Given the description of an element on the screen output the (x, y) to click on. 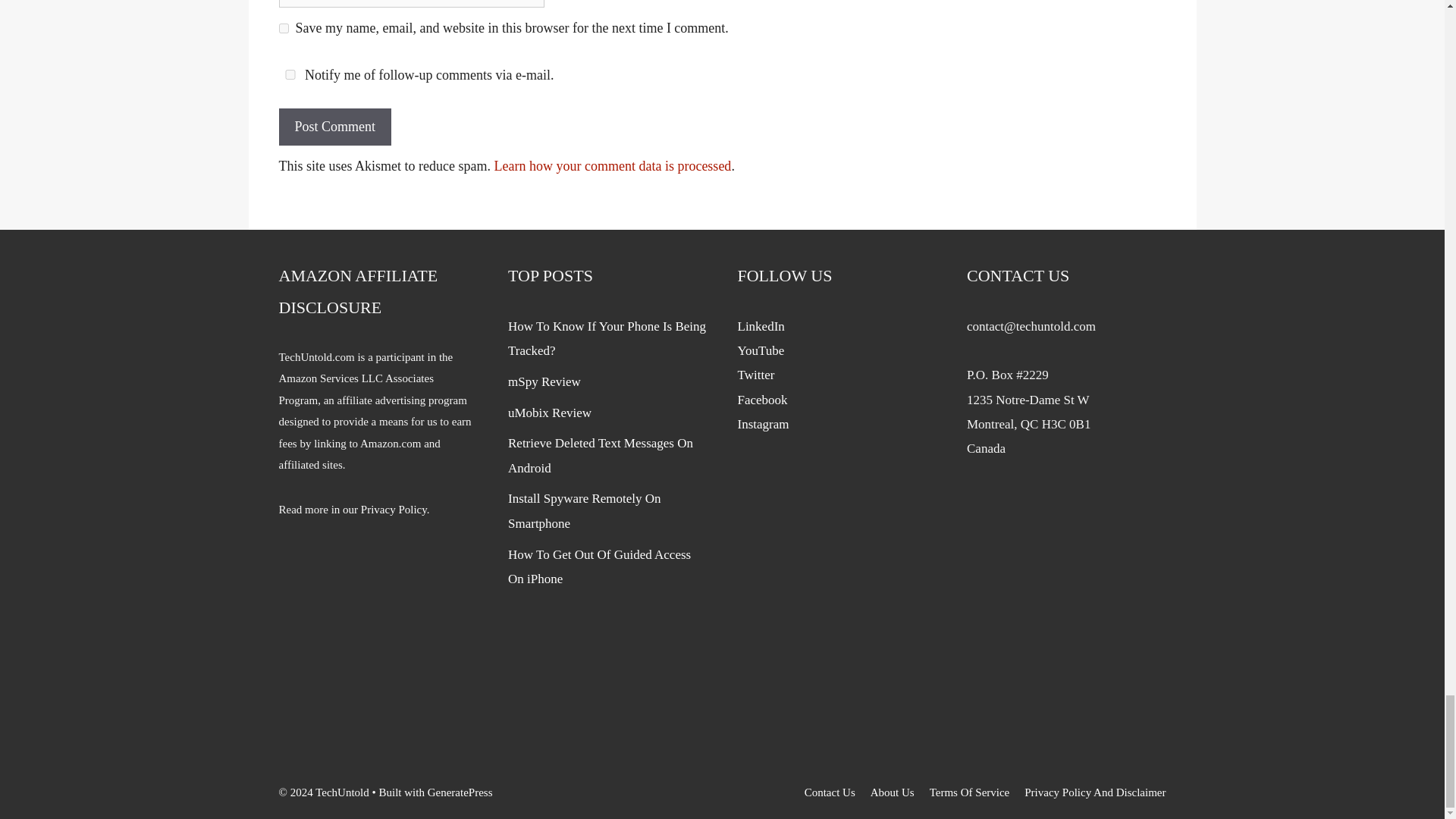
Post Comment (335, 126)
yes (290, 74)
yes (283, 28)
